Given the description of an element on the screen output the (x, y) to click on. 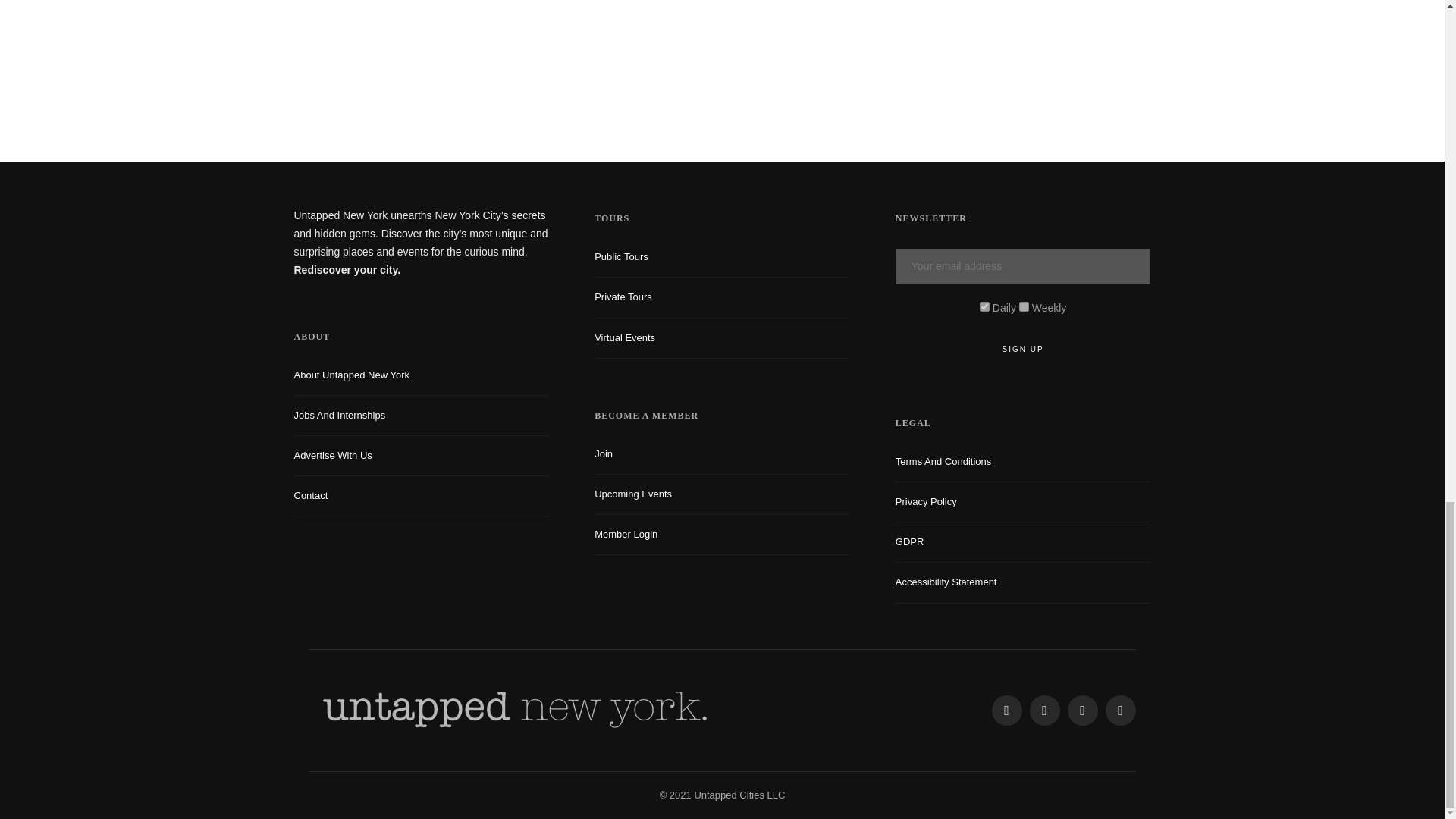
Sign up (1023, 349)
7cff6a70fd (1024, 307)
e99a09560c (984, 307)
